Given the description of an element on the screen output the (x, y) to click on. 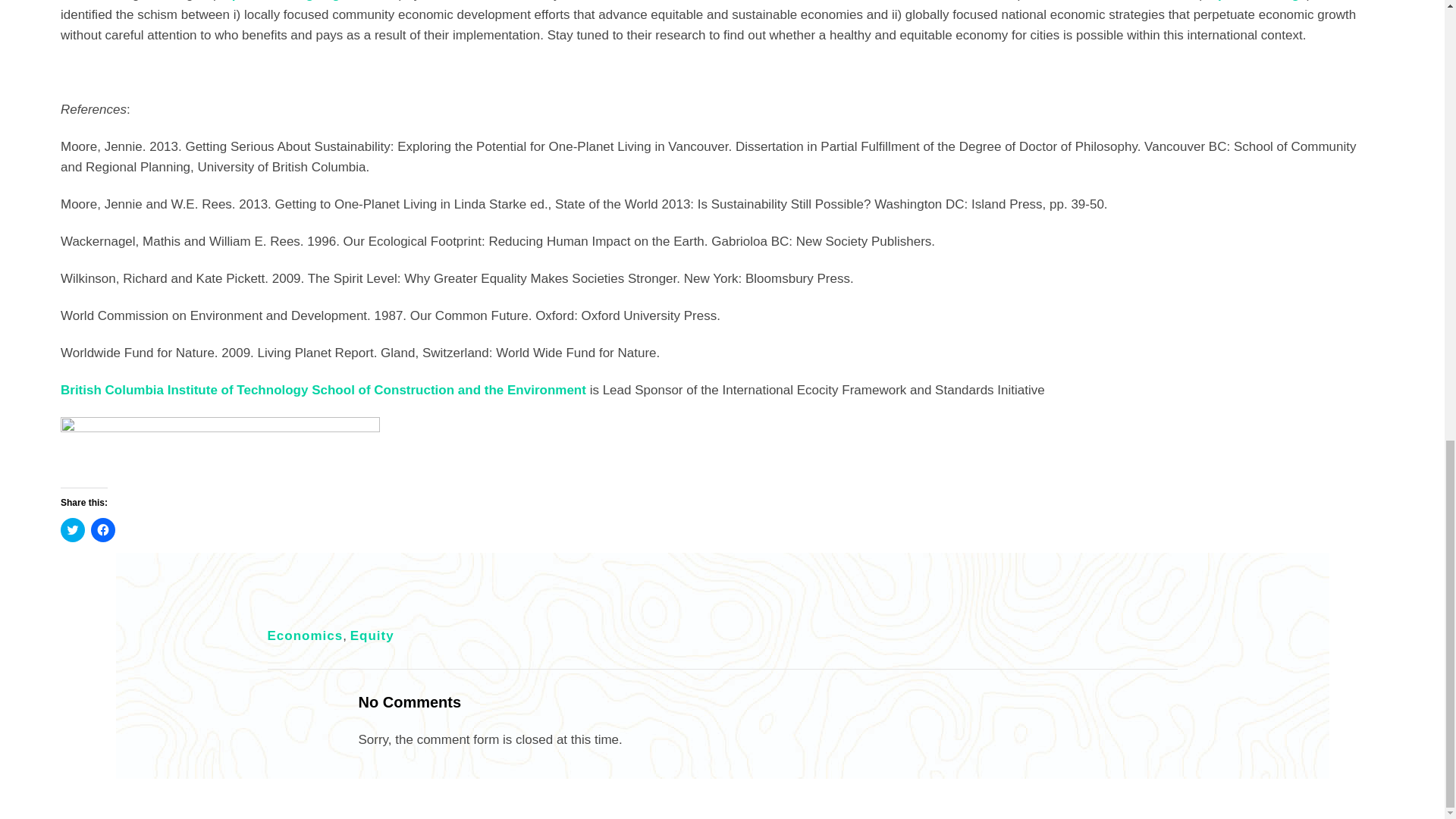
Click to share on Facebook (102, 529)
Click to share on Twitter (72, 529)
